Given the description of an element on the screen output the (x, y) to click on. 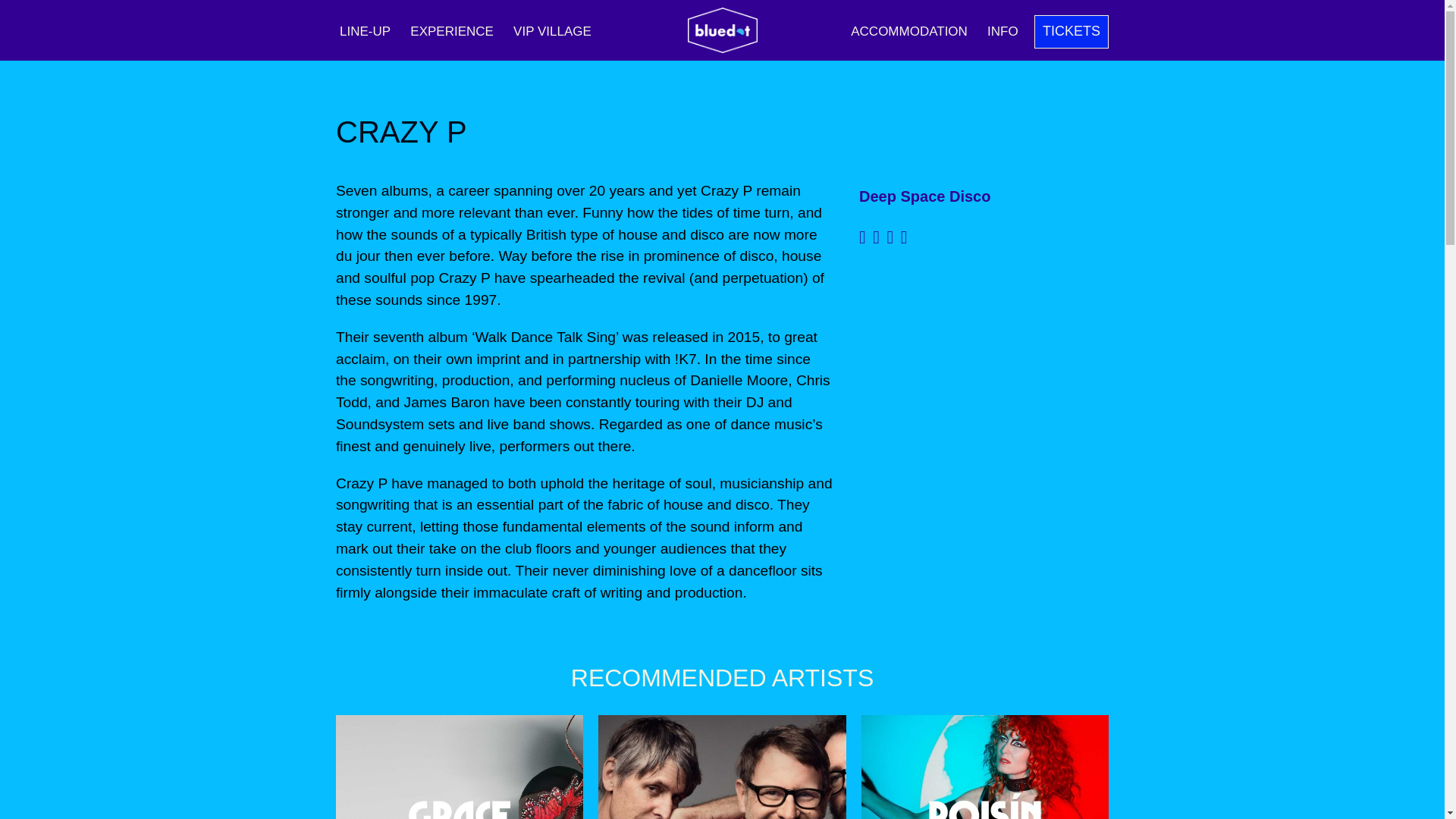
ACCOMMODATION (909, 31)
LINE-UP (365, 31)
TICKETS (1070, 31)
VIP VILLAGE (552, 31)
EXPERIENCE (451, 31)
INFO (1003, 31)
Deep Space Disco (924, 196)
